Given the description of an element on the screen output the (x, y) to click on. 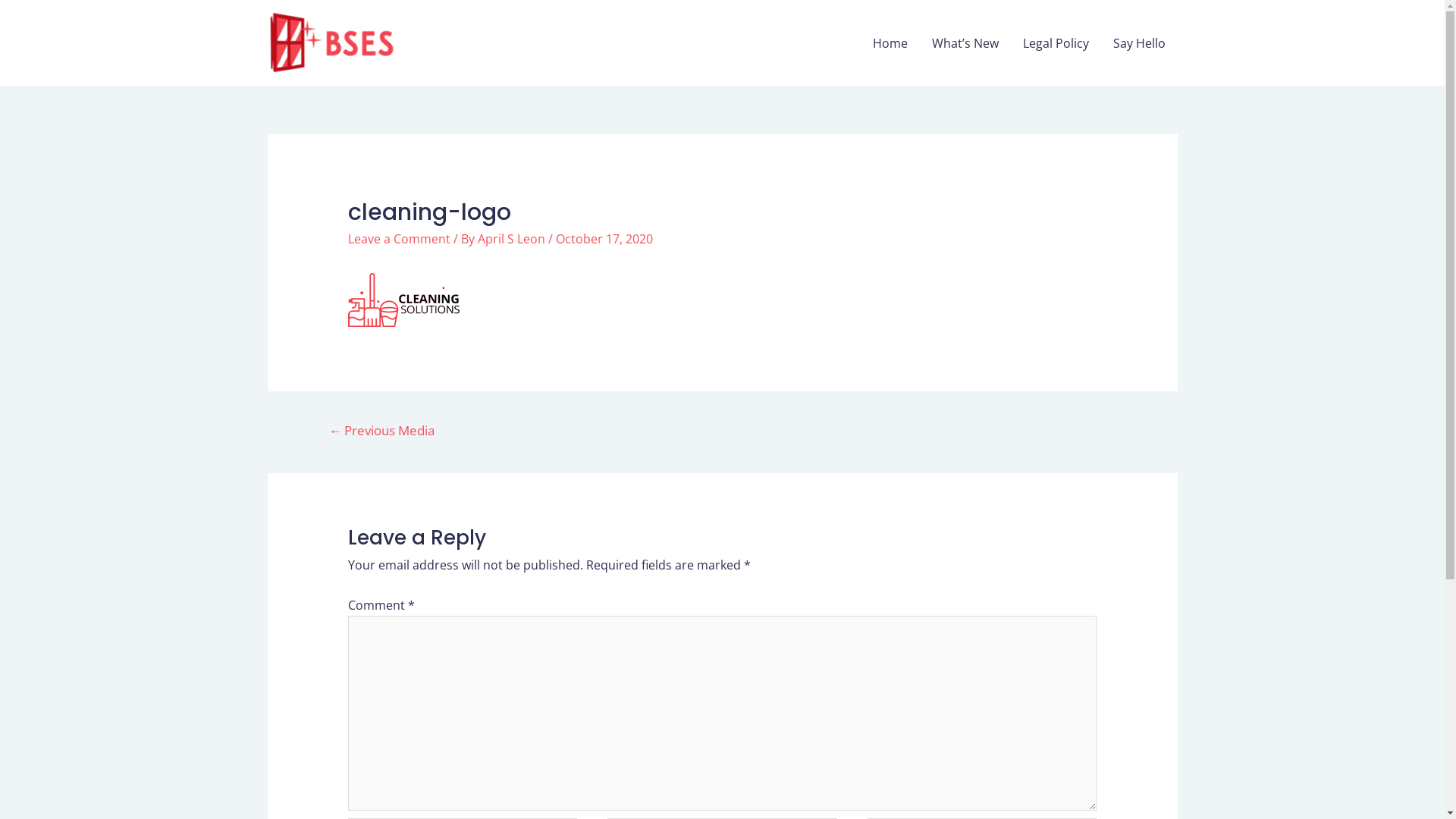
April S Leon Element type: text (512, 238)
Leave a Comment Element type: text (399, 238)
Legal Policy Element type: text (1055, 42)
Home Element type: text (889, 42)
Say Hello Element type: text (1139, 42)
